Given the description of an element on the screen output the (x, y) to click on. 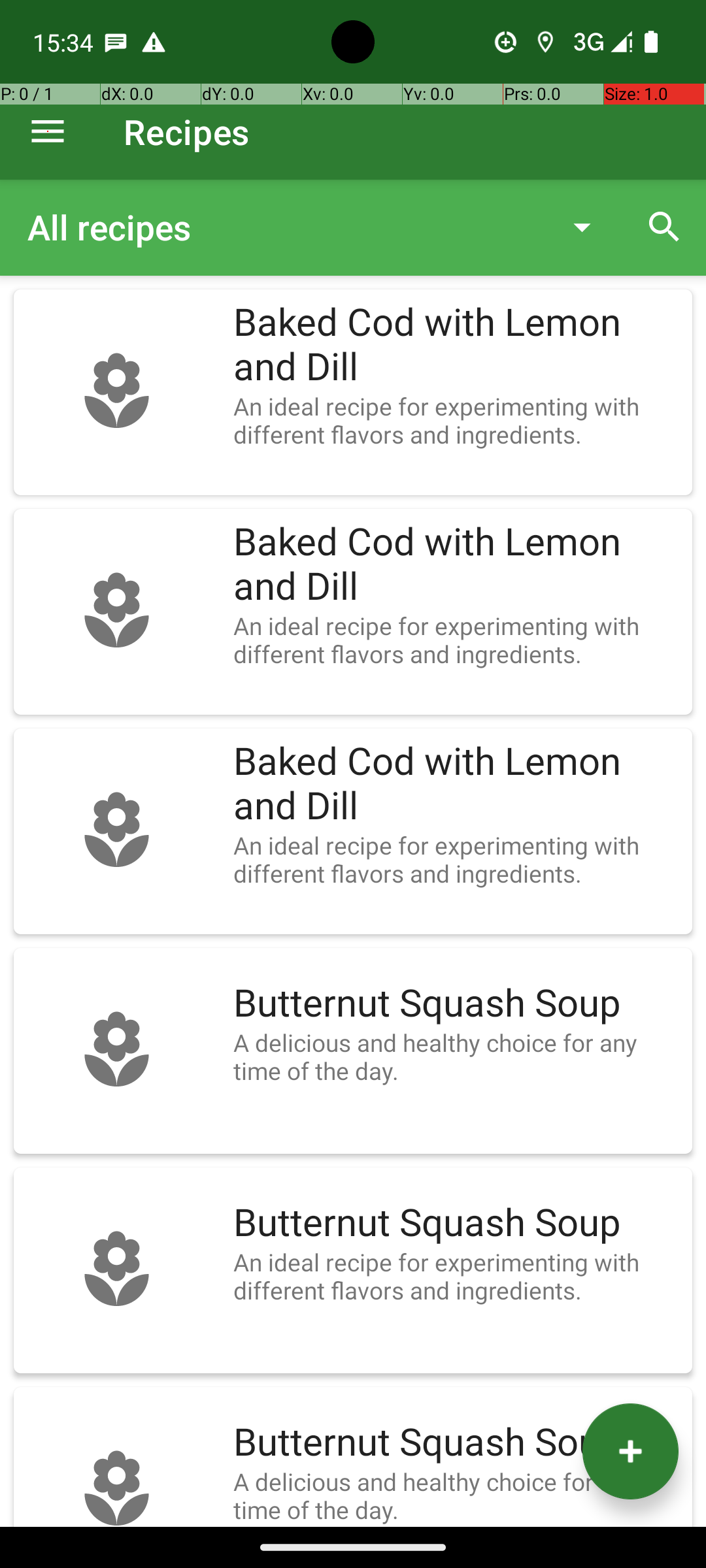
Baked Cod with Lemon and Dill Element type: android.widget.TextView (455, 344)
Butternut Squash Soup Element type: android.widget.TextView (455, 1003)
